Given the description of an element on the screen output the (x, y) to click on. 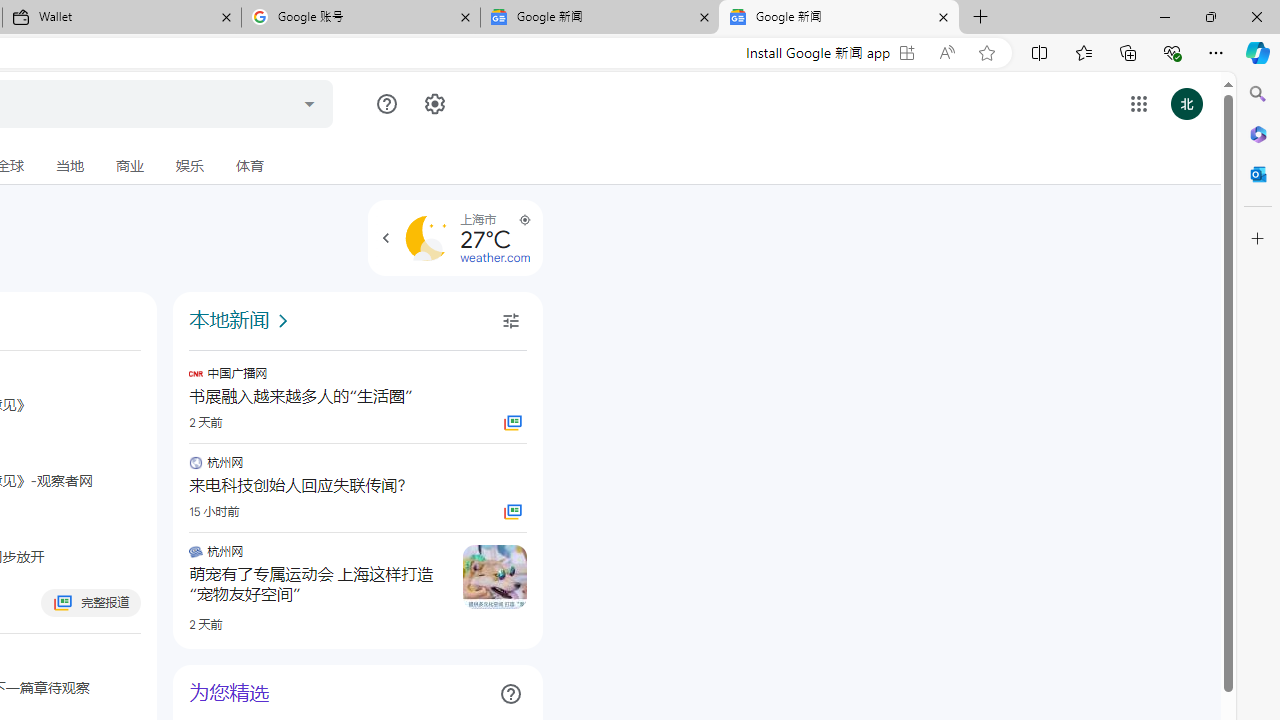
weather.com (495, 257)
